Given the description of an element on the screen output the (x, y) to click on. 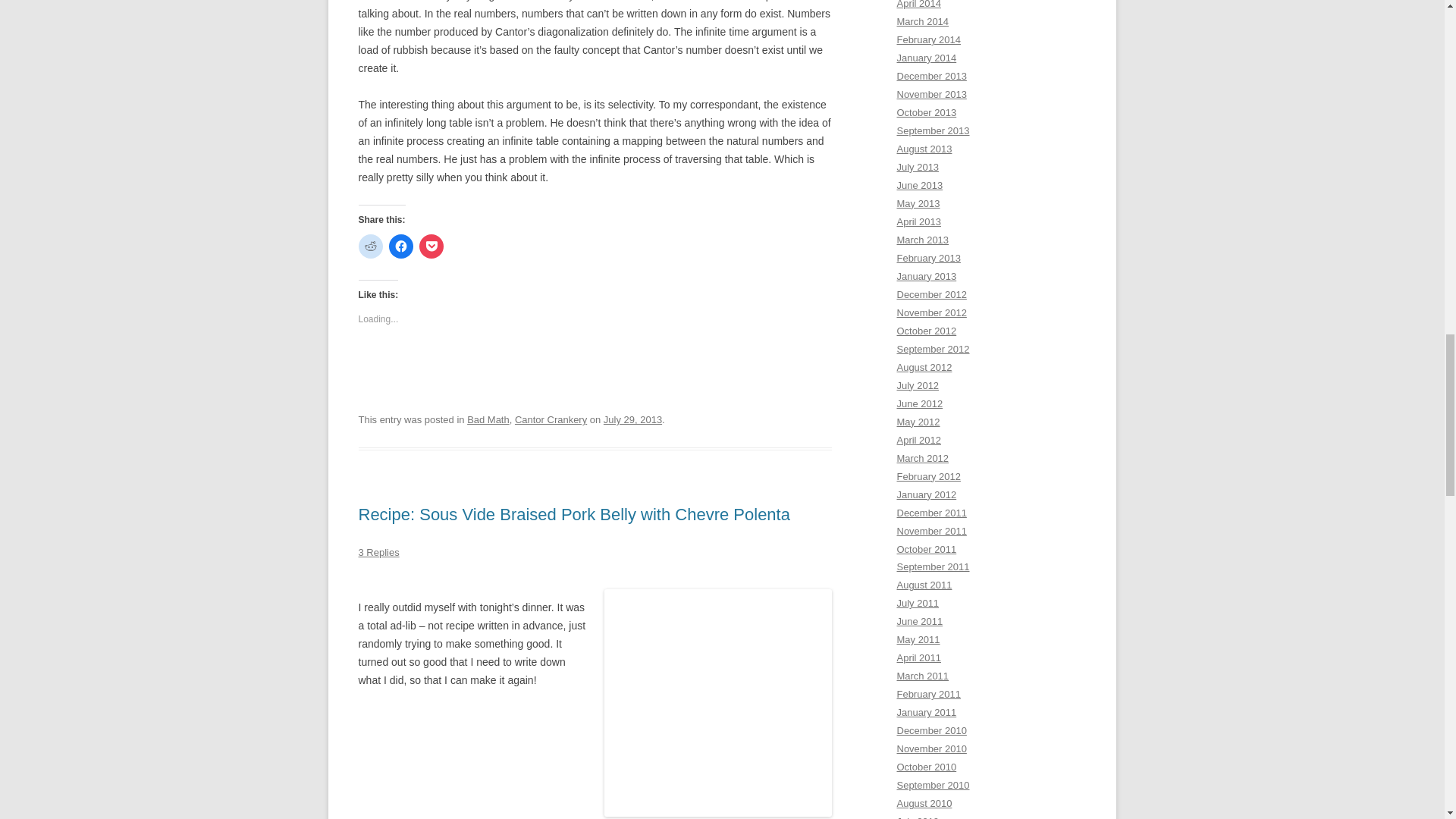
3 Replies (378, 552)
Cantor Crankery (550, 419)
Bad Math (488, 419)
Click to share on Pocket (430, 246)
Like or Reblog (594, 372)
Click to share on Reddit (369, 246)
11:00 am (633, 419)
Recipe: Sous Vide Braised Pork Belly with Chevre Polenta (573, 514)
July 29, 2013 (633, 419)
Click to share on Facebook (400, 246)
